Given the description of an element on the screen output the (x, y) to click on. 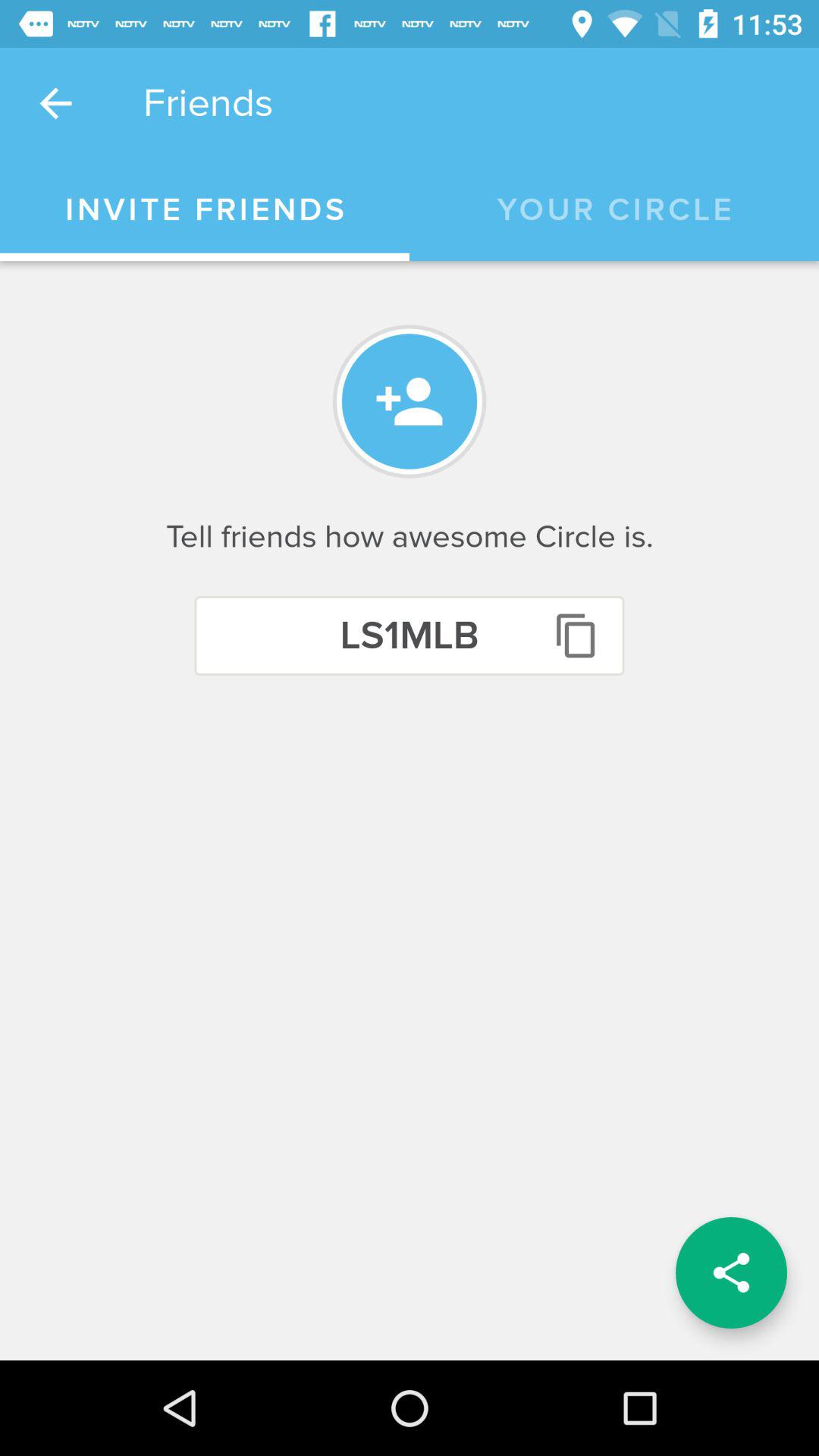
flip until the your circle icon (614, 210)
